Given the description of an element on the screen output the (x, y) to click on. 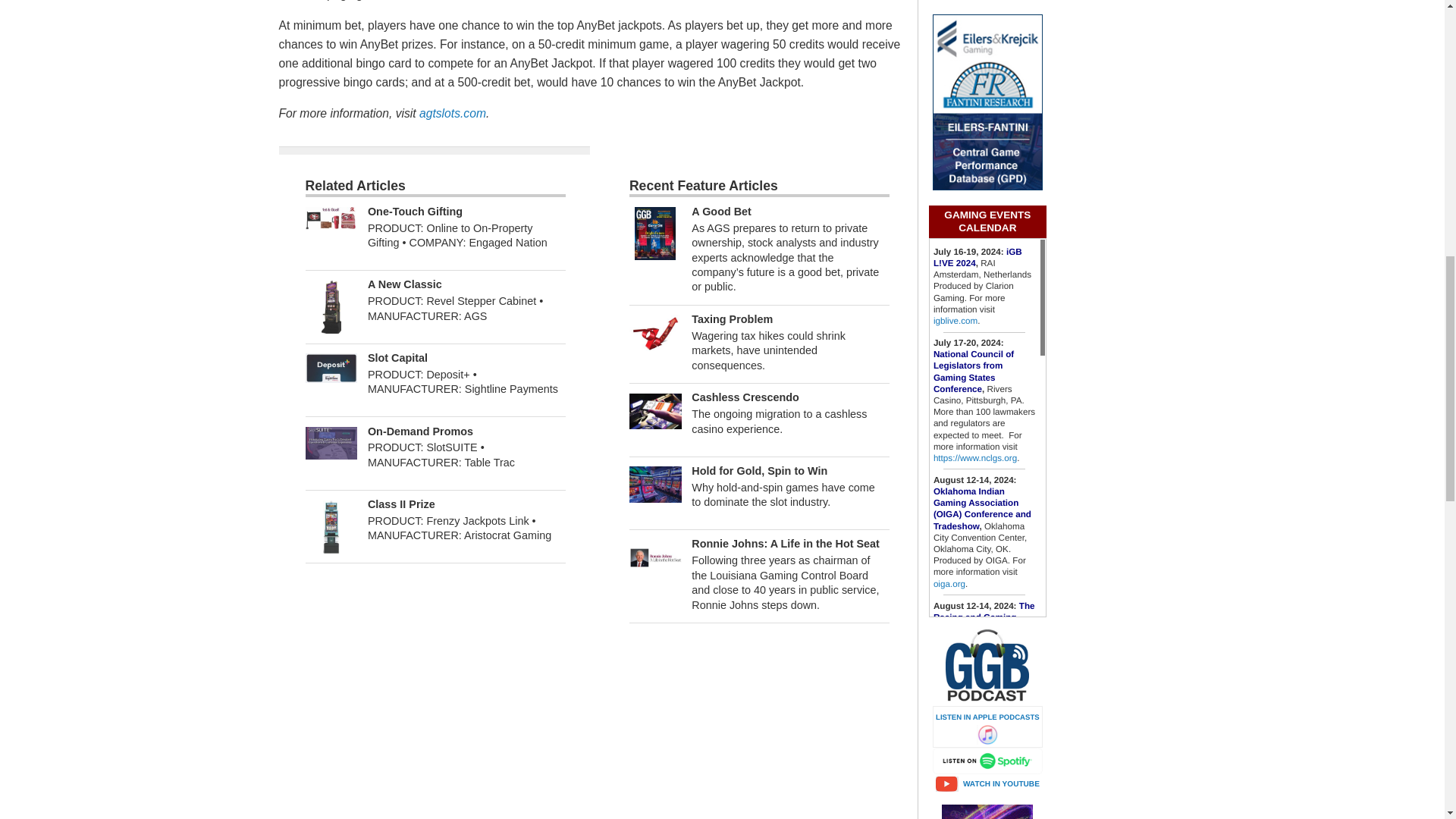
Slot Capital (398, 357)
Slot Capital (330, 367)
One-Touch Gifting (415, 211)
A New Classic (330, 306)
One-Touch Gifting (330, 217)
A New Classic (405, 284)
